Given the description of an element on the screen output the (x, y) to click on. 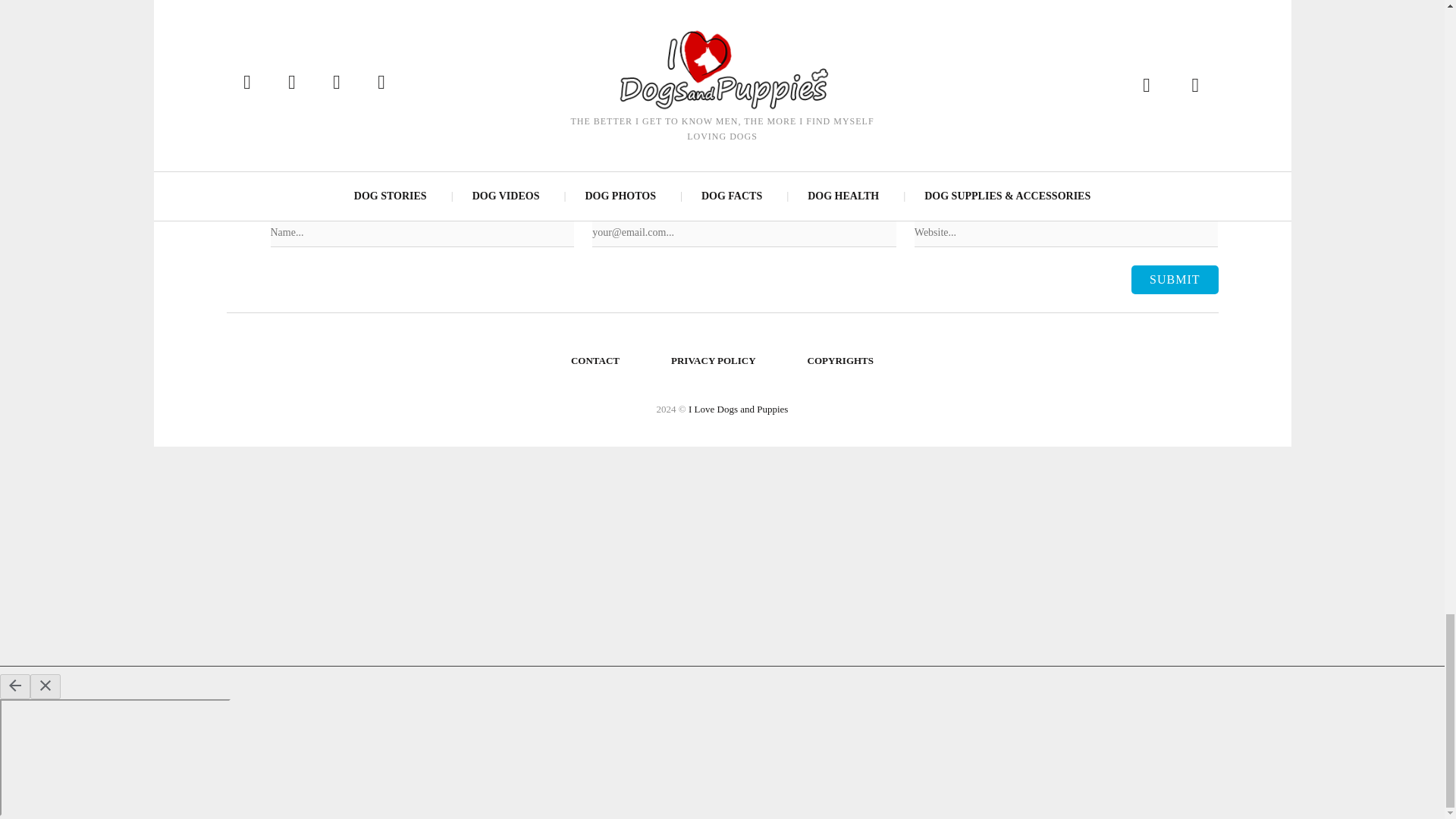
ADD YOURS (456, 9)
COPYRIGHTS (839, 360)
Submit (1174, 279)
CONTACT (595, 360)
PRIVACY POLICY (714, 360)
I Love Dogs and Puppies (737, 408)
Submit (1174, 279)
